Given the description of an element on the screen output the (x, y) to click on. 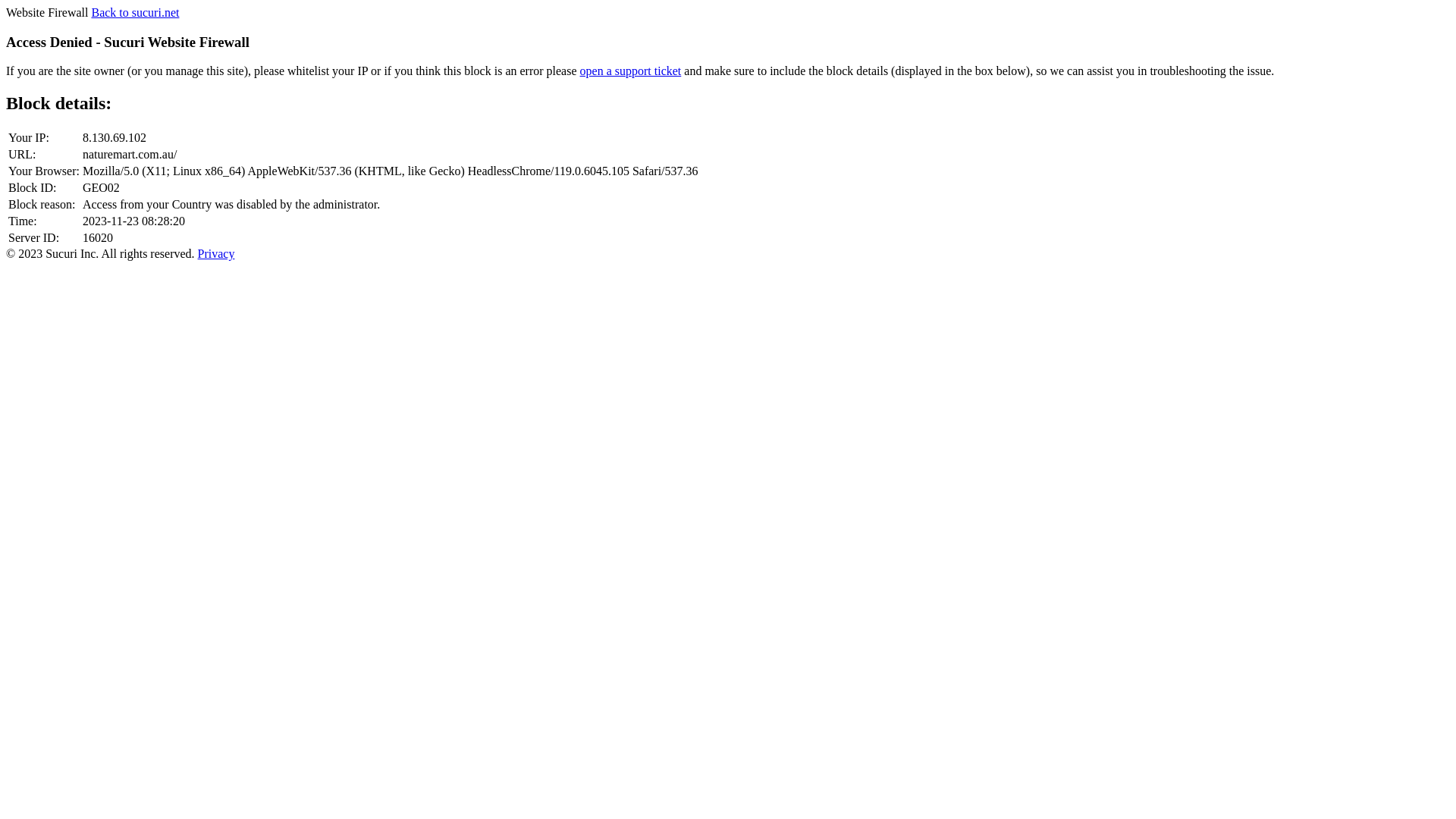
Back to sucuri.net Element type: text (134, 12)
open a support ticket Element type: text (630, 70)
Privacy Element type: text (216, 253)
